Given the description of an element on the screen output the (x, y) to click on. 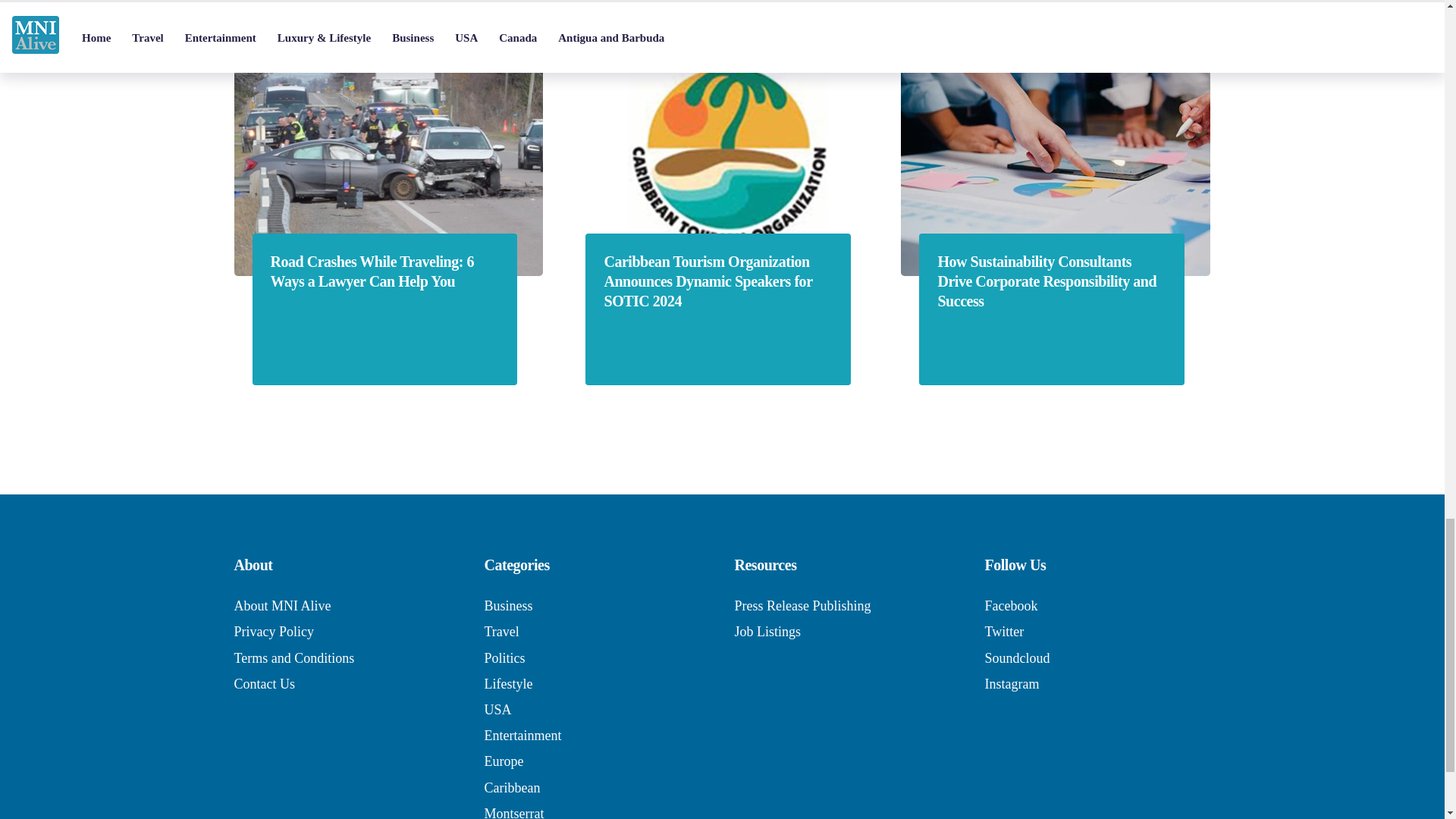
USA (497, 709)
Travel (500, 631)
Entertainment (521, 735)
Caribbean (511, 787)
Contact Us (263, 683)
Business (507, 605)
Terms and Conditions (292, 657)
Job Listings (766, 631)
Europe (502, 761)
